Given the description of an element on the screen output the (x, y) to click on. 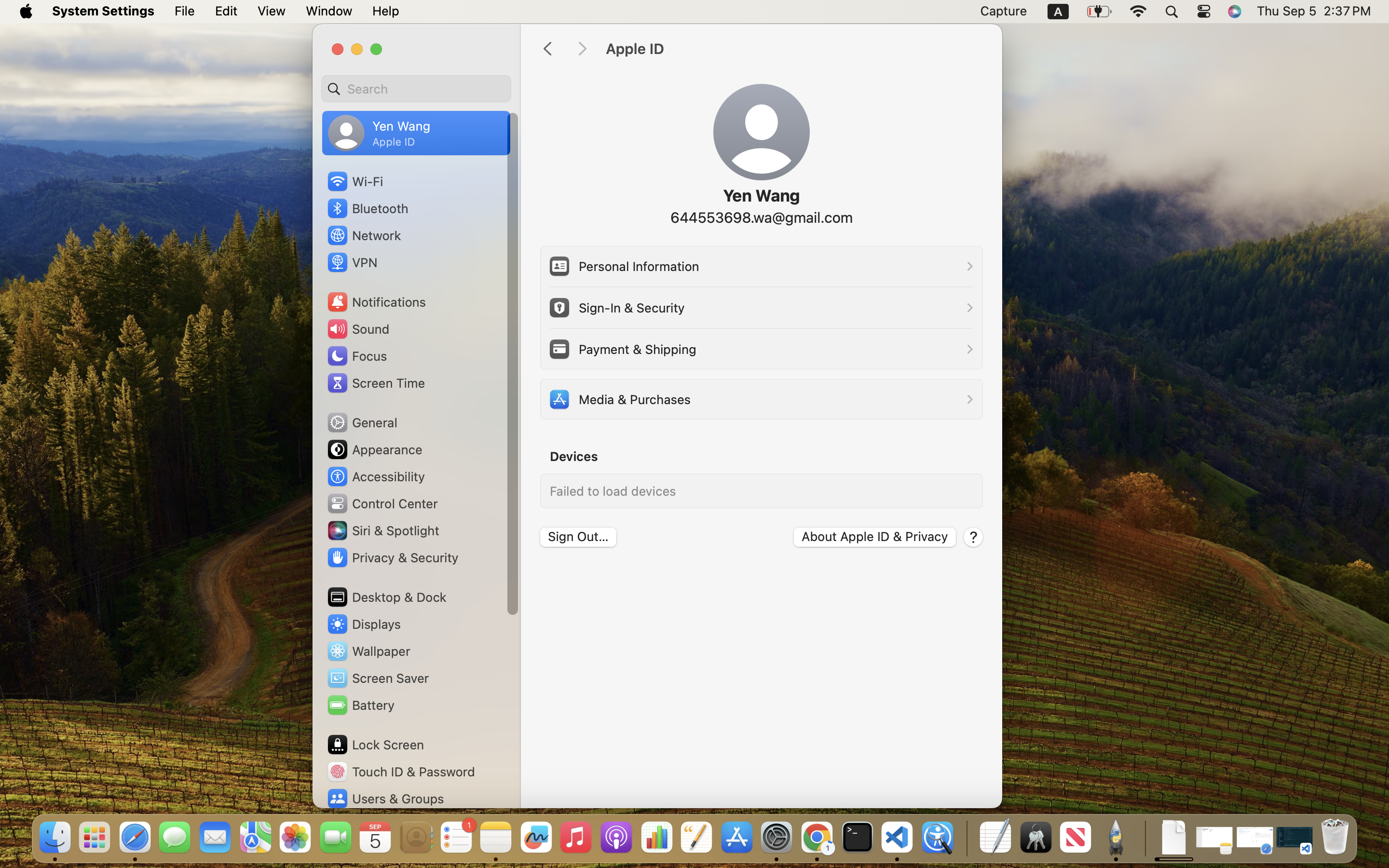
Notifications Element type: AXStaticText (376, 301)
Apple ID Element type: AXStaticText (793, 49)
Users & Groups Element type: AXStaticText (384, 798)
Network Element type: AXStaticText (363, 234)
Yen Wang, Apple ID Element type: AXStaticText (378, 132)
